Given the description of an element on the screen output the (x, y) to click on. 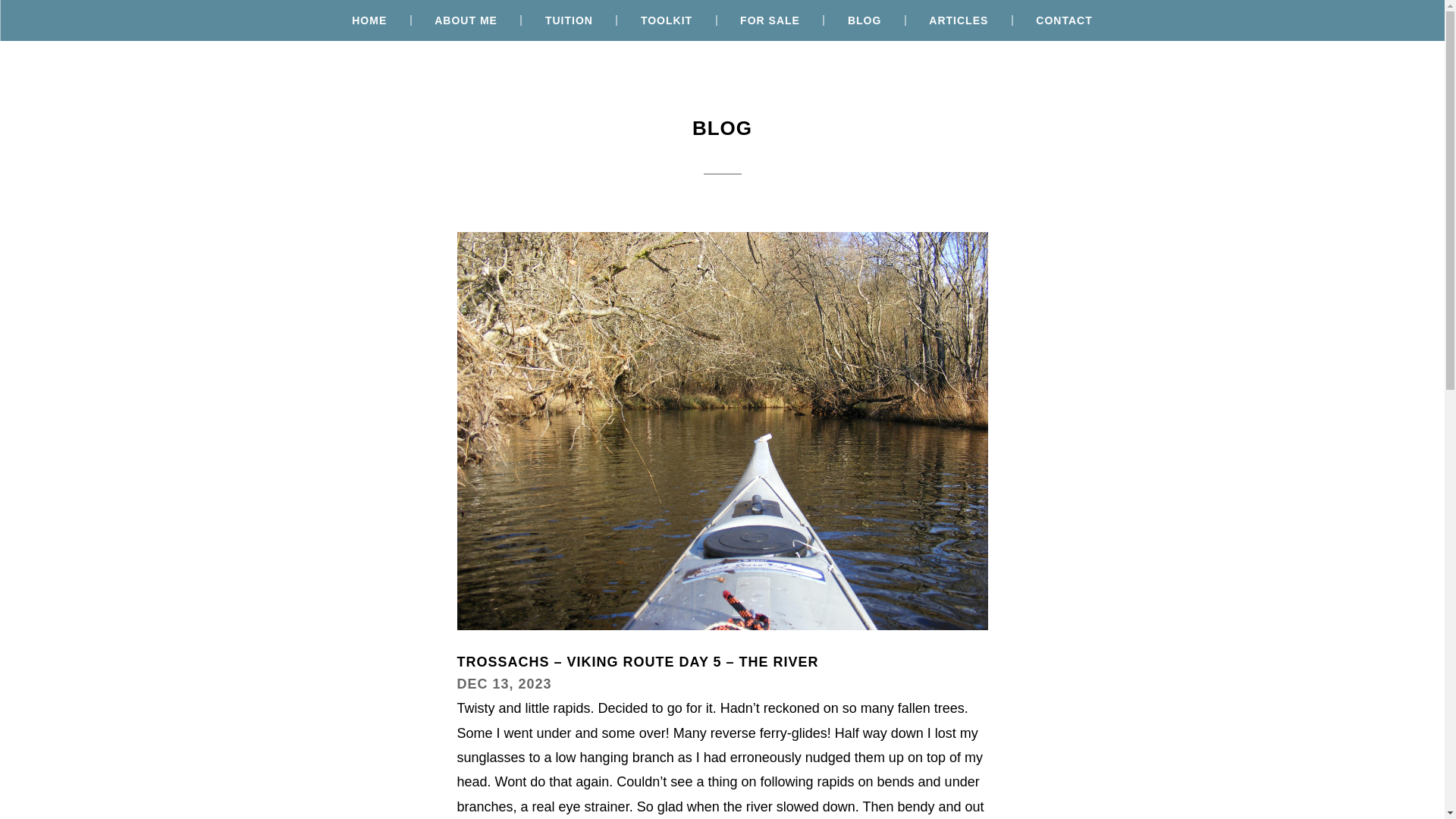
BLOG (864, 20)
ARTICLES (958, 20)
HOME (368, 20)
TOOLKIT (666, 20)
FOR SALE (770, 20)
TUITION (568, 20)
CONTACT (1063, 20)
ABOUT ME (465, 20)
